Given the description of an element on the screen output the (x, y) to click on. 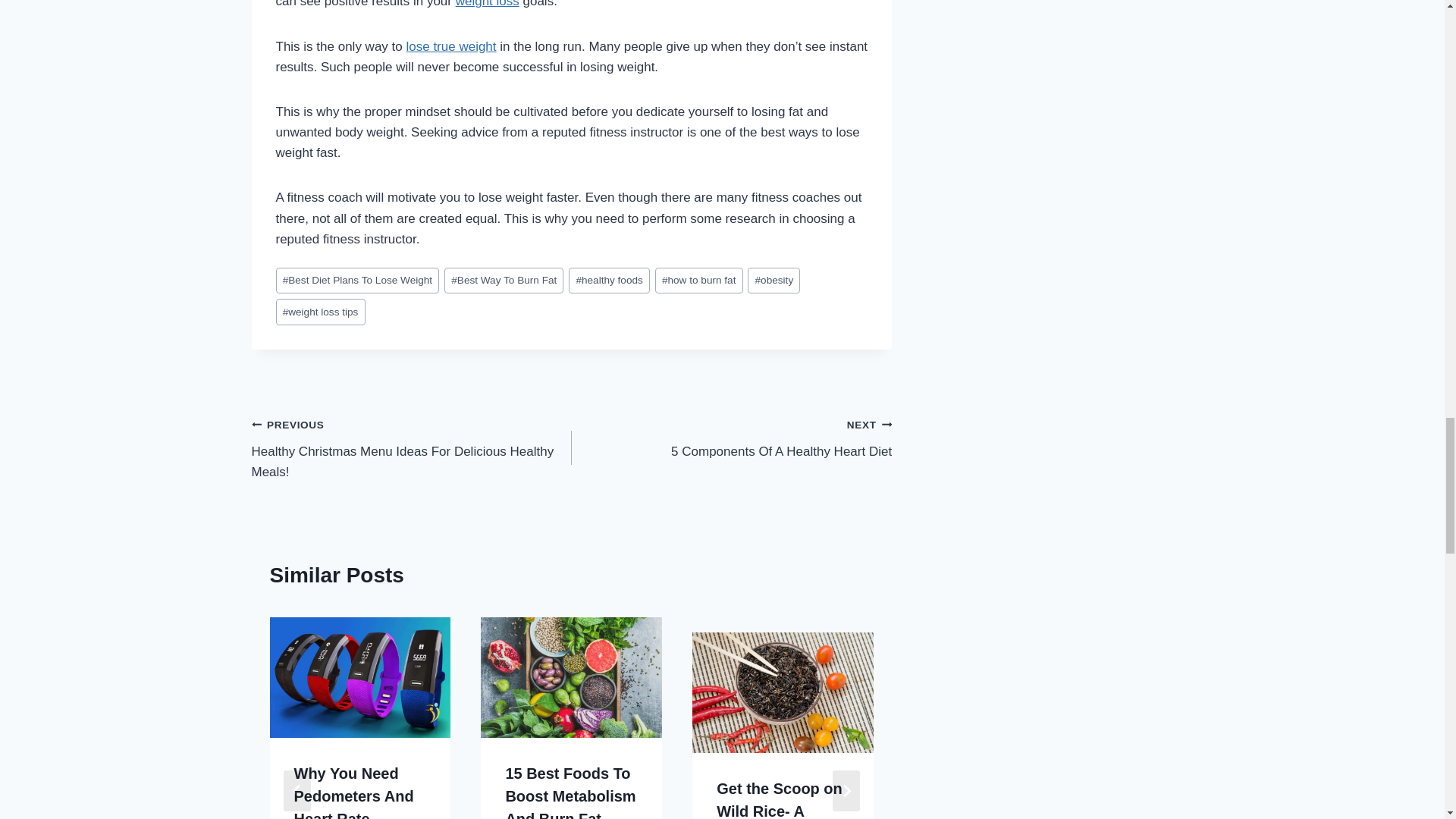
Best Way To Burn Fat (503, 280)
15 Best Foods To Boost Metabolism And Burn Fat 5 (571, 677)
how to burn fat (698, 280)
healthy foods (609, 280)
obesity (773, 280)
lose true weight (731, 437)
Best Diet Plans To Lose Weight (451, 46)
